Given the description of an element on the screen output the (x, y) to click on. 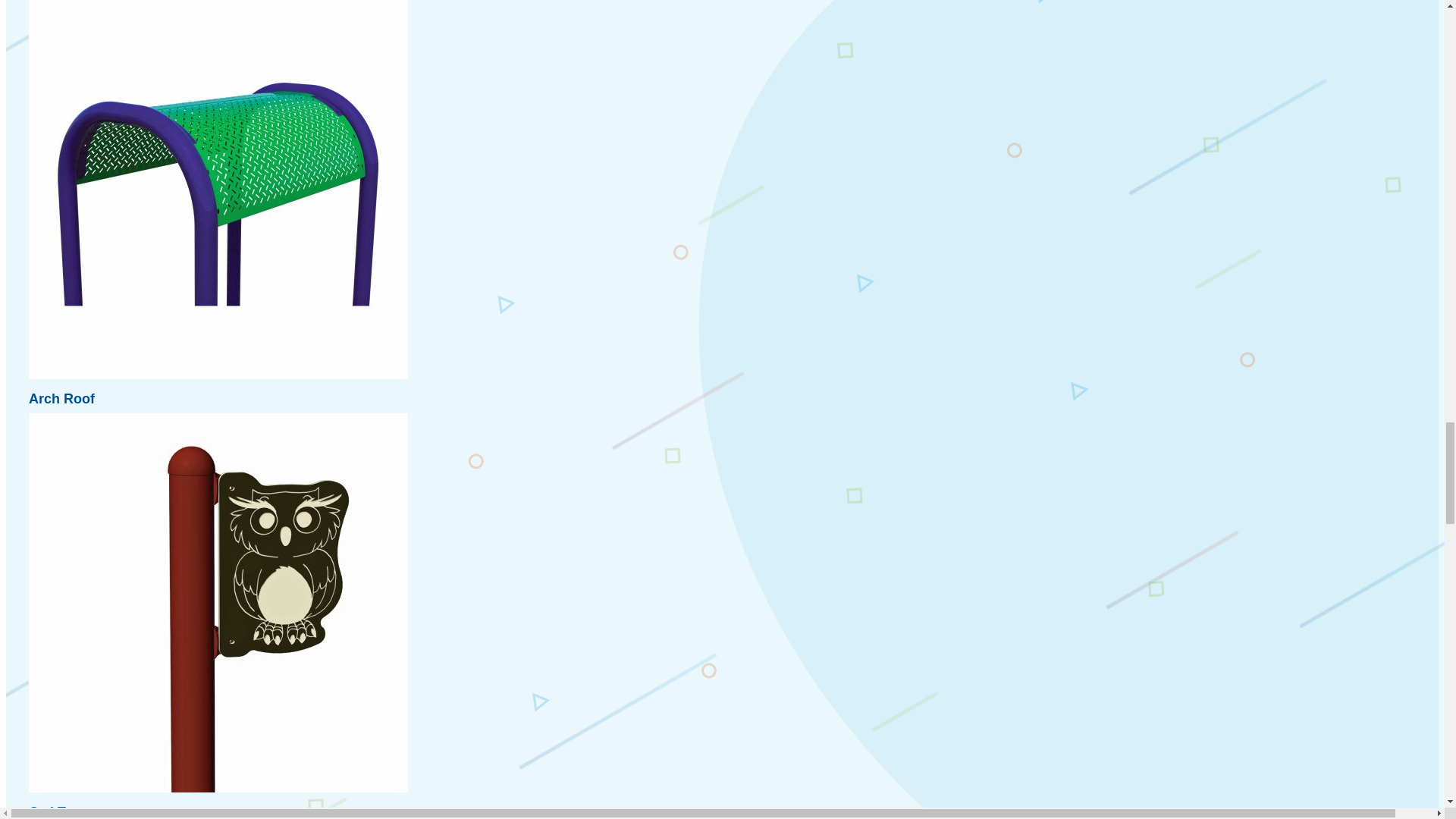
Themed Playgrounds (880, 652)
Accessible Playground Equipment (880, 10)
